Given the description of an element on the screen output the (x, y) to click on. 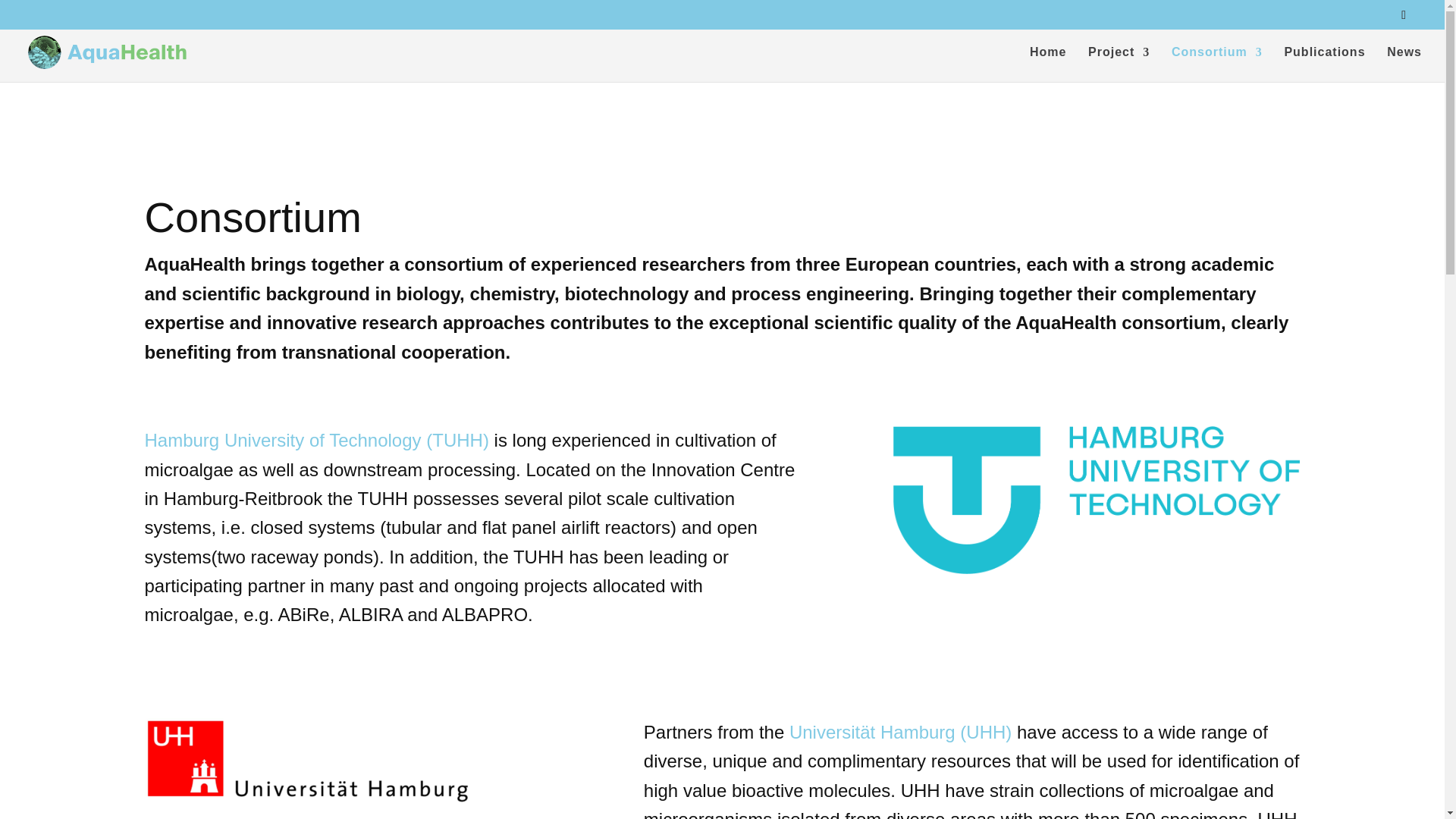
News (1404, 63)
Home (1047, 63)
Consortium (1217, 63)
Project (1118, 63)
Publications (1324, 63)
